Given the description of an element on the screen output the (x, y) to click on. 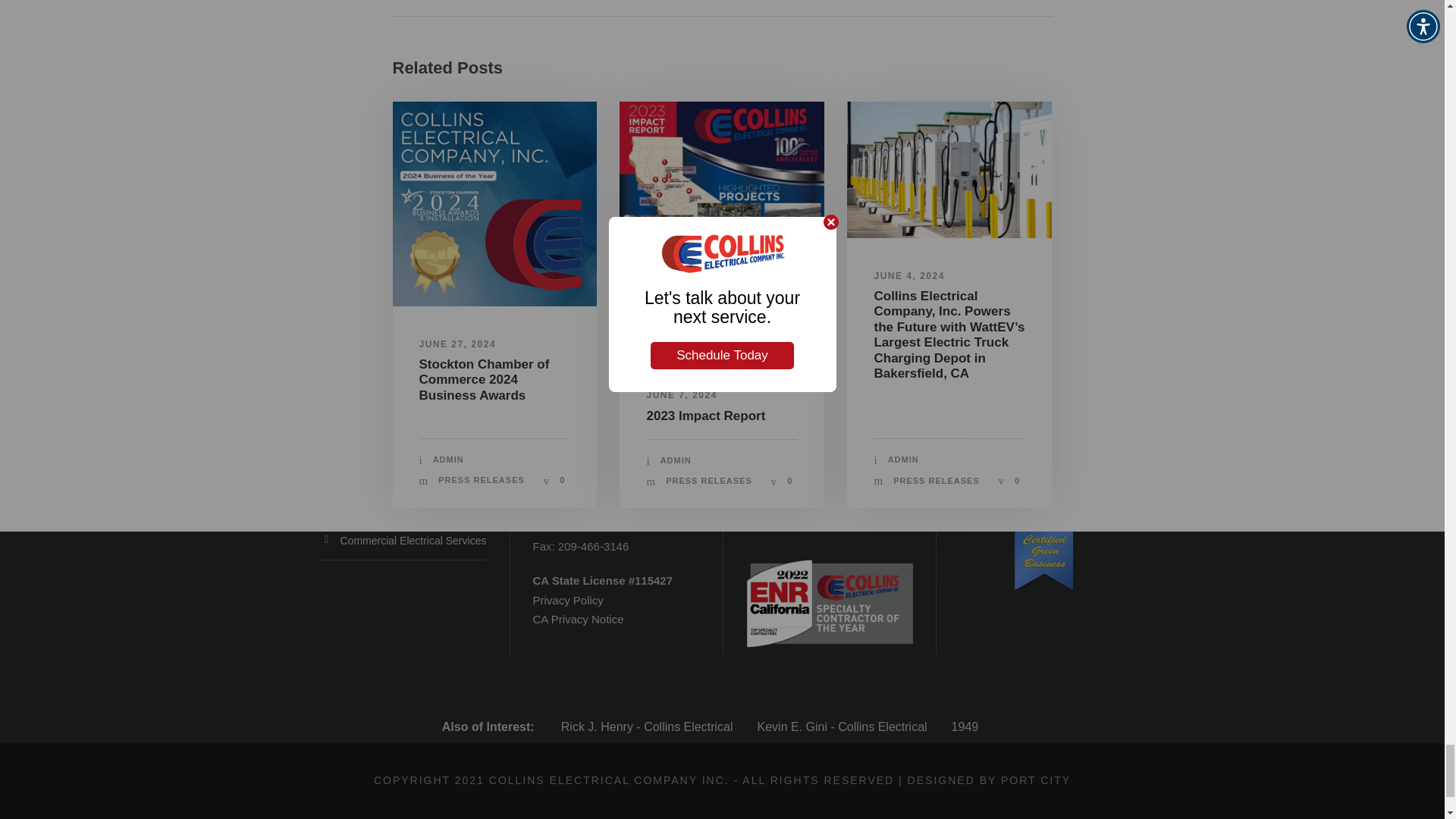
Posts by admin (448, 459)
Collins Honorree Highlight (494, 203)
Posts by admin (676, 460)
